Given the description of an element on the screen output the (x, y) to click on. 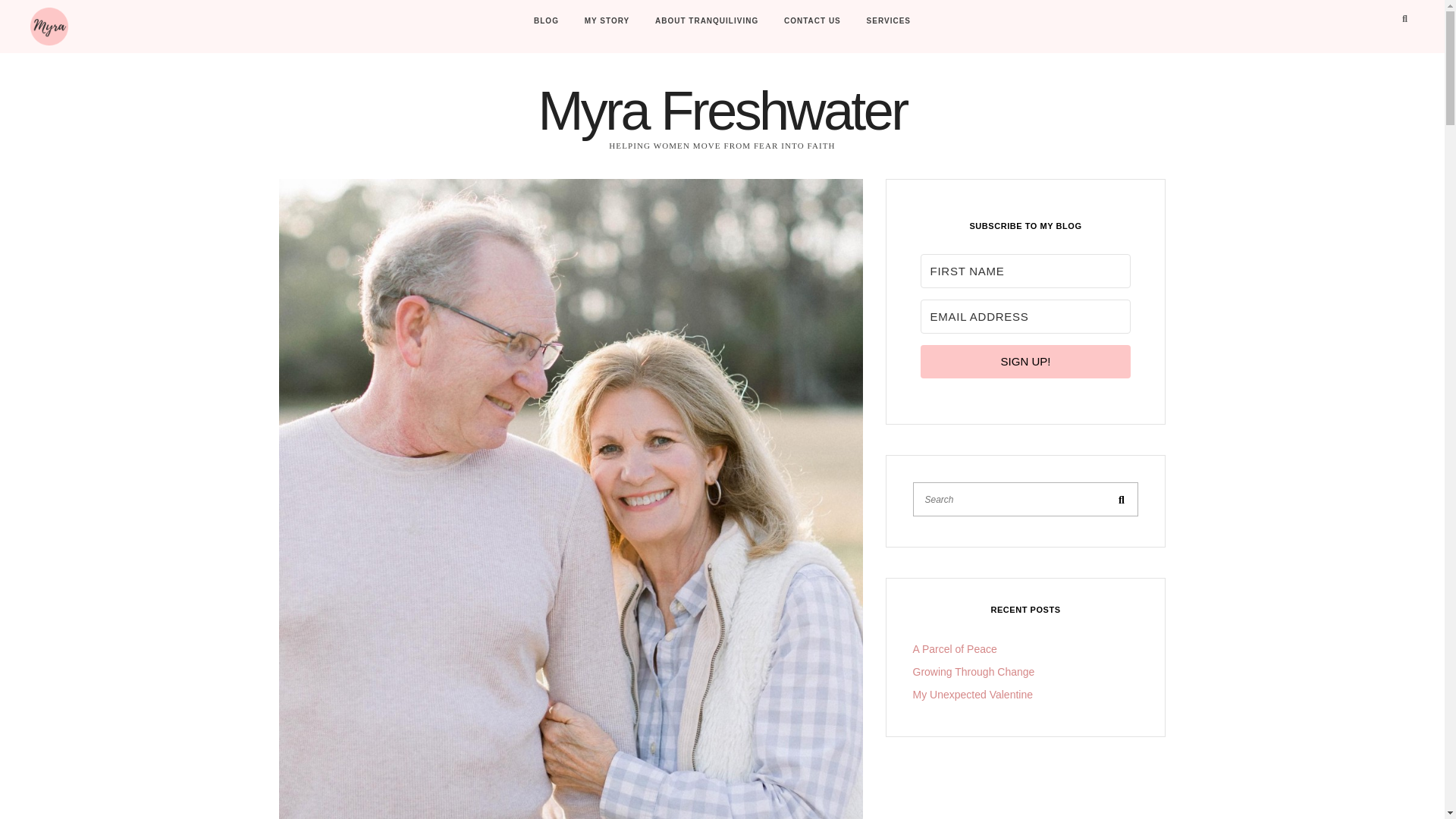
CONTACT US (812, 21)
Search (1120, 499)
About Tranquiliving (706, 21)
ABOUT TRANQUILIVING (706, 21)
SIGN UP! (1025, 361)
Blog (546, 21)
SERVICES (888, 21)
MY STORY (607, 21)
Myra Freshwater (721, 110)
Contact Us (812, 21)
